Given the description of an element on the screen output the (x, y) to click on. 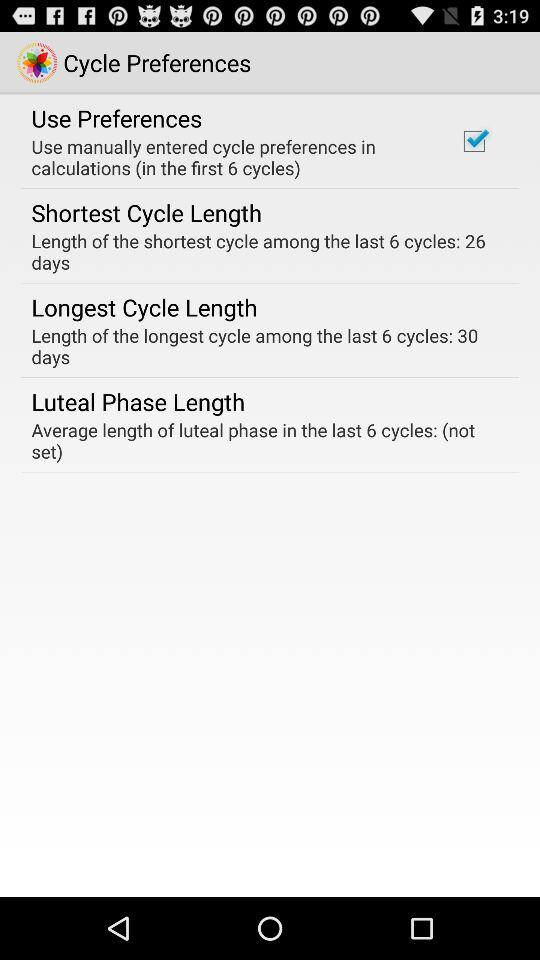
tap item next to use manually entered app (474, 141)
